Given the description of an element on the screen output the (x, y) to click on. 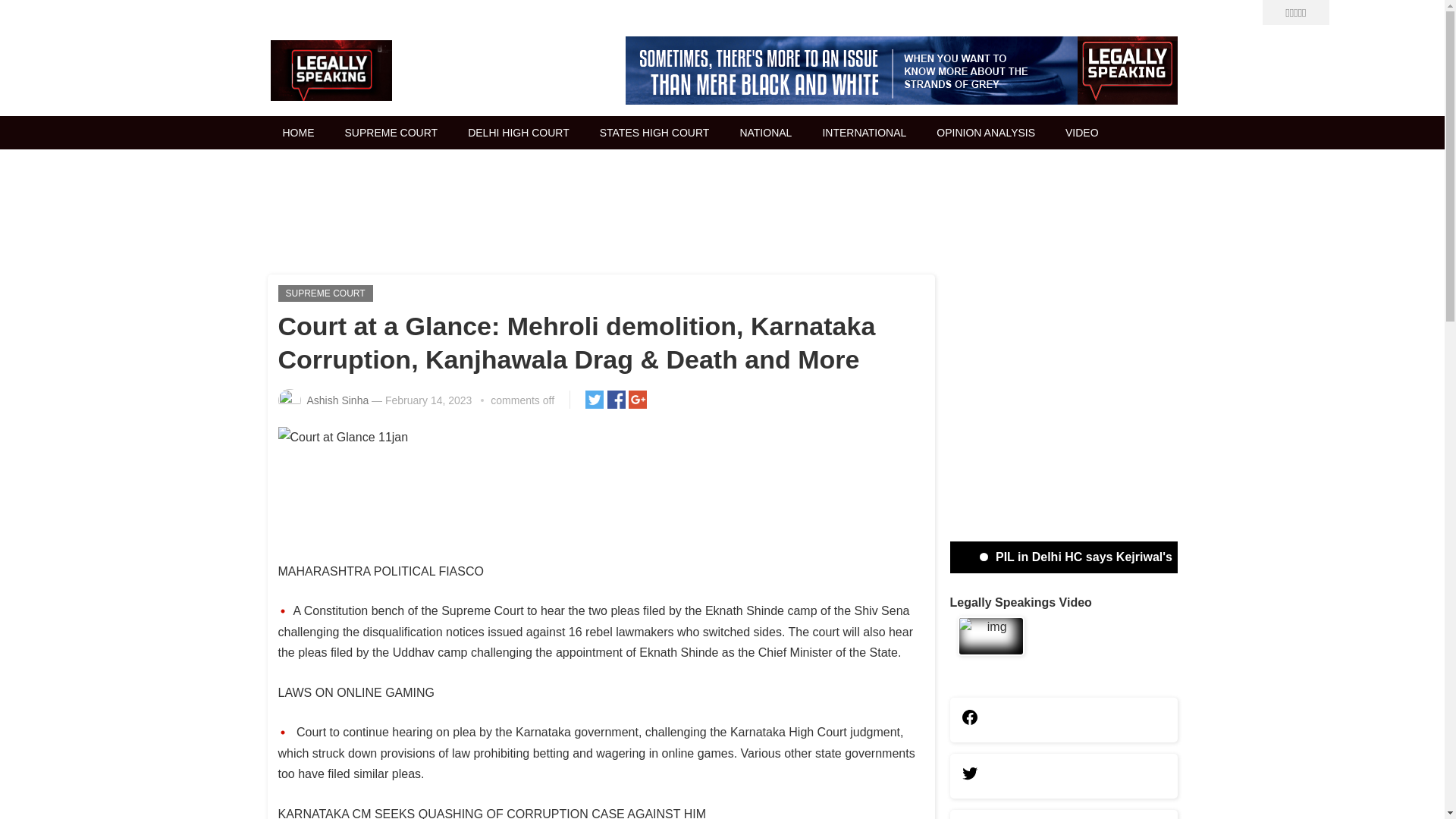
OPINION ANALYSIS (985, 132)
SUPREME COURT (390, 132)
DELHI HIGH COURT (518, 132)
Posts by Ashish Sinha (336, 399)
View all posts in Supreme Court (325, 293)
NATIONAL (764, 132)
Ashish Sinha (336, 399)
HOME (297, 132)
SUPREME COURT (325, 293)
STATES HIGH COURT (655, 132)
